Given the description of an element on the screen output the (x, y) to click on. 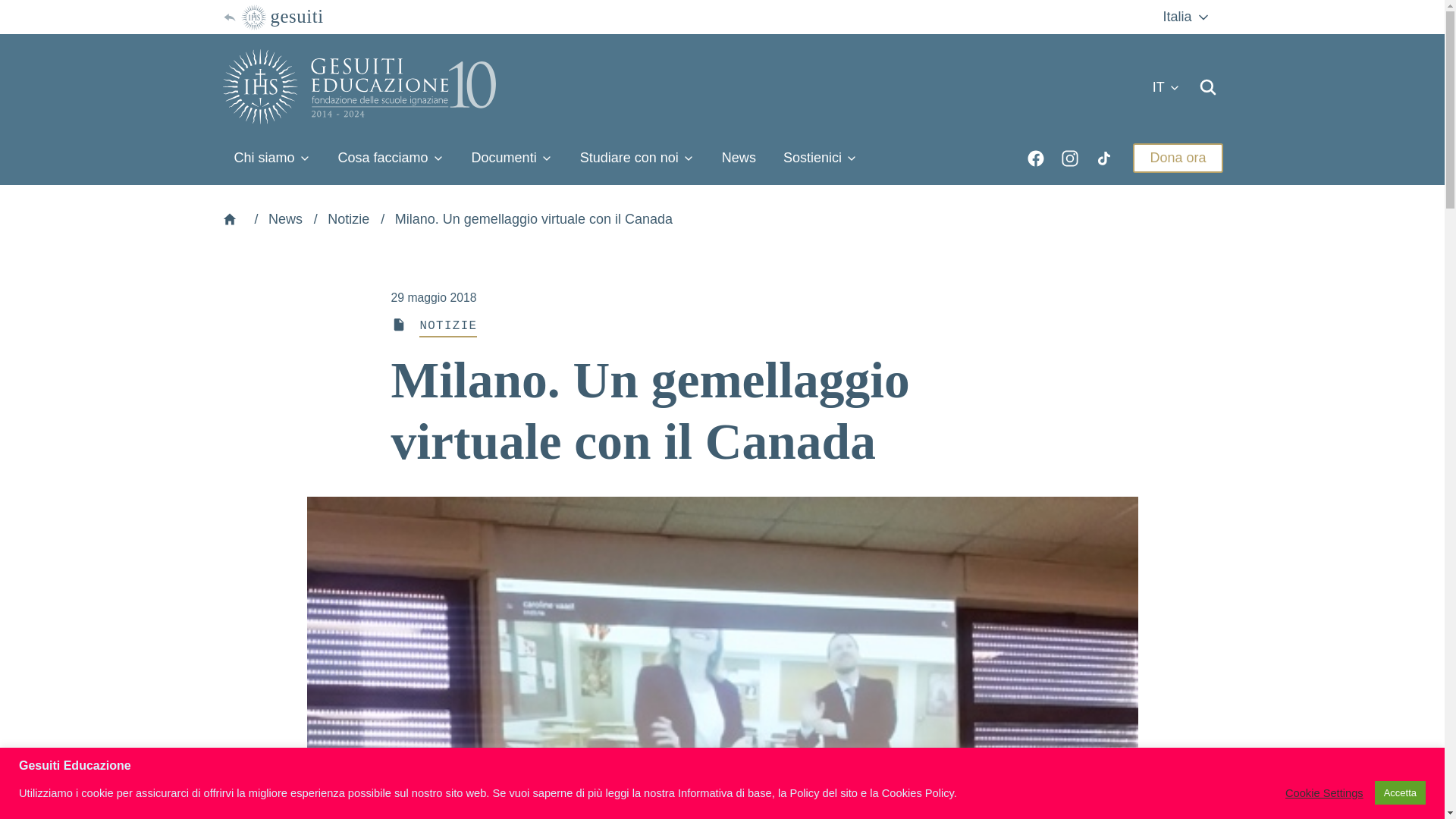
gesuiti (272, 17)
IT (1166, 87)
Studiare con noi (636, 157)
Chi siamo (271, 157)
Documenti (512, 157)
Cosa facciamo (391, 157)
Italia (1186, 17)
